Given the description of an element on the screen output the (x, y) to click on. 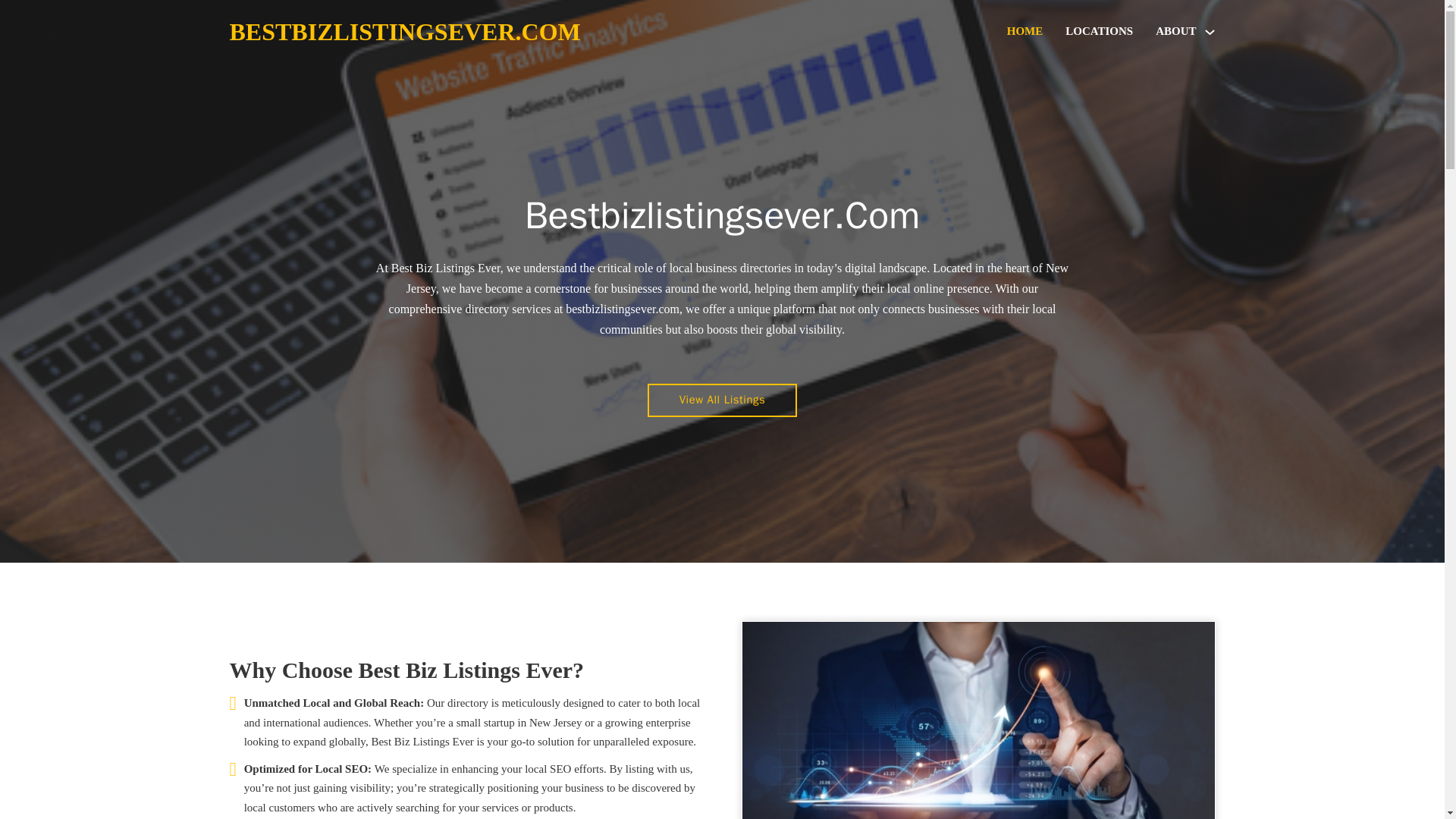
HOME (1025, 31)
BESTBIZLISTINGSEVER.COM (403, 31)
View All Listings (722, 400)
LOCATIONS (1098, 31)
